Given the description of an element on the screen output the (x, y) to click on. 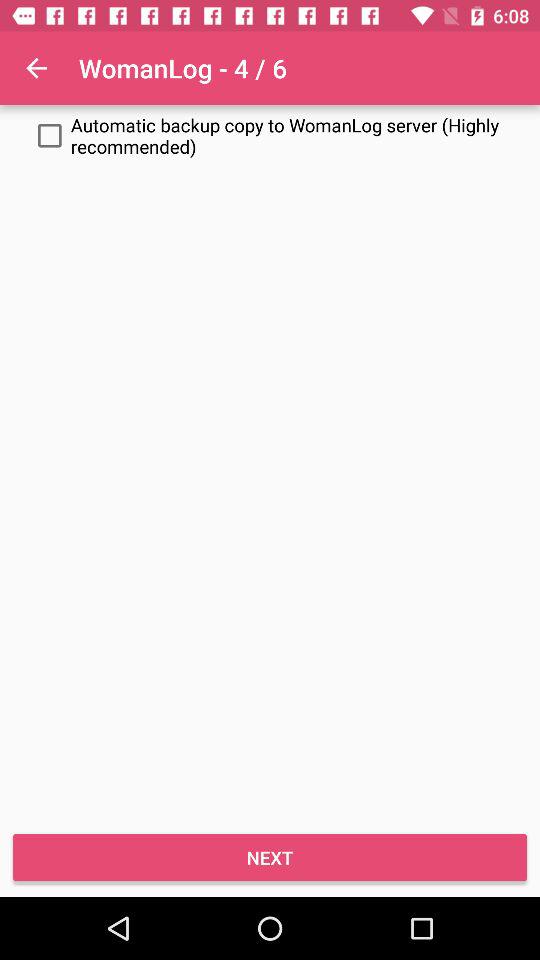
launch the item above the next icon (269, 135)
